Given the description of an element on the screen output the (x, y) to click on. 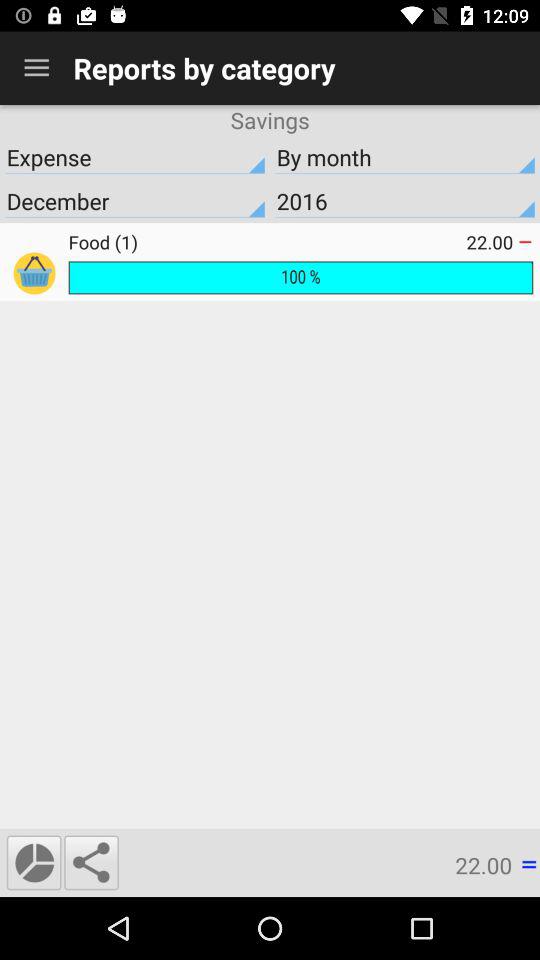
turn on item to the left of reports by category (36, 68)
